Given the description of an element on the screen output the (x, y) to click on. 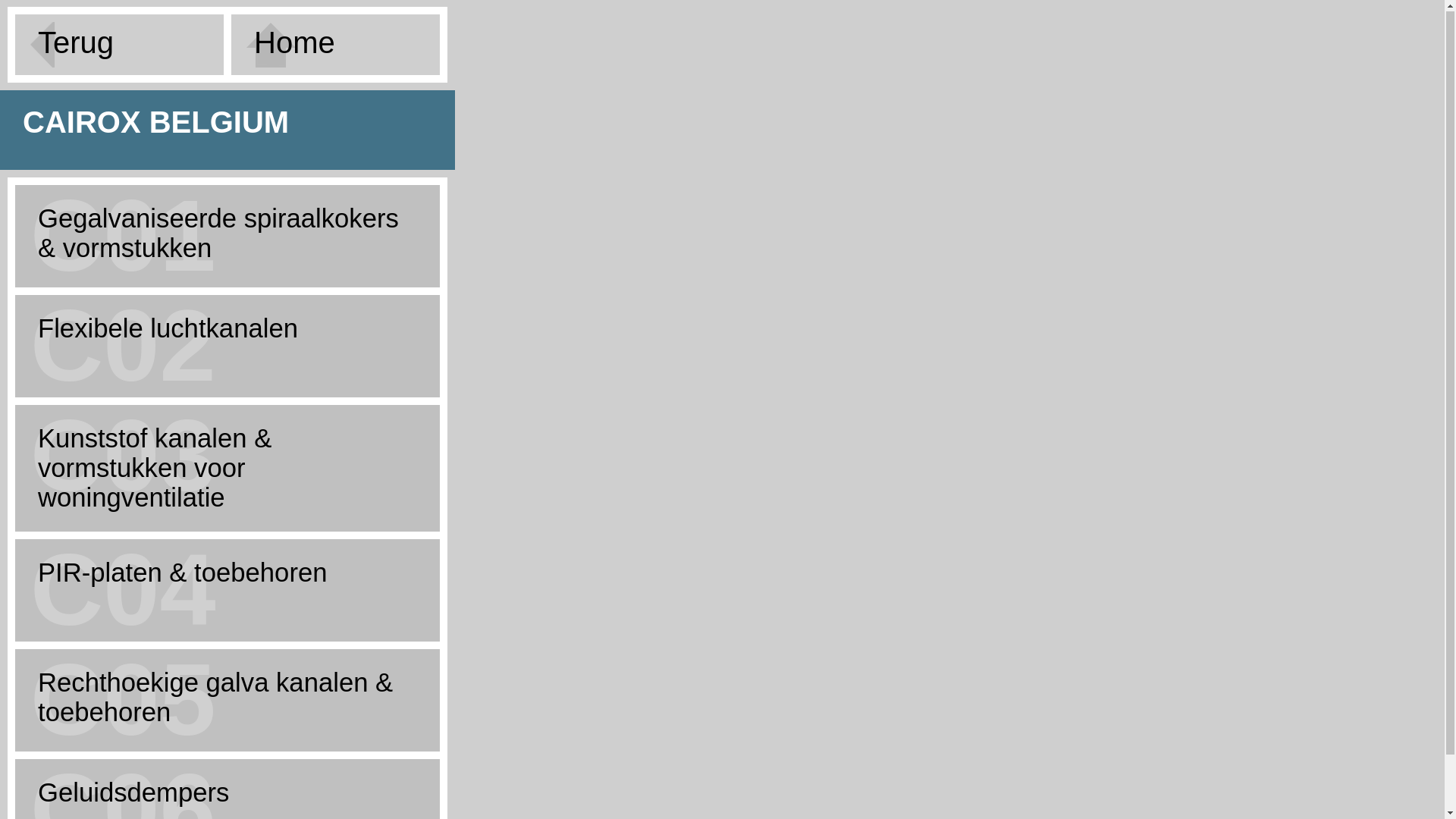
Flexibele luchtkanalen Element type: text (227, 329)
Geluidsdempers Element type: text (227, 793)
Kunststof kanalen & vormstukken voor woningventilatie Element type: text (227, 468)
Terug Element type: text (119, 45)
Rechthoekige galva kanalen & toebehoren Element type: text (227, 698)
Home Element type: text (335, 45)
PIR-platen & toebehoren Element type: text (227, 573)
Gegalvaniseerde spiraalkokers & vormstukken Element type: text (227, 233)
